Given the description of an element on the screen output the (x, y) to click on. 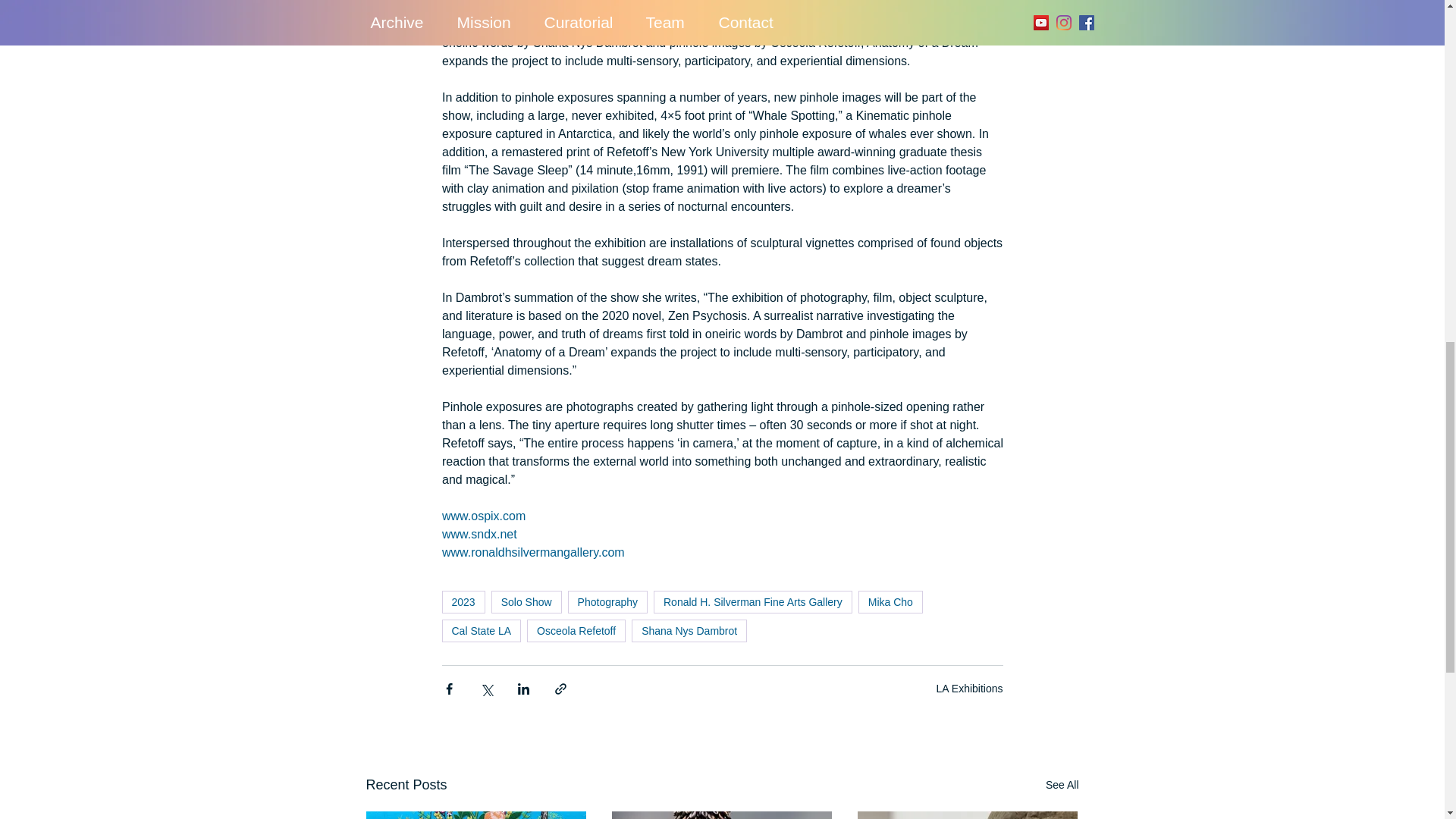
Mika Cho (891, 601)
www.ronaldhsilvermangallery.com (532, 552)
Photography (607, 601)
Shana Nys Dambrot (688, 630)
Ronald H. Silverman Fine Arts Gallery (752, 601)
Osceola Refetoff (576, 630)
Solo Show (527, 601)
www.sndx.net  (480, 533)
www.ospix.com (482, 515)
2023 (462, 601)
